Given the description of an element on the screen output the (x, y) to click on. 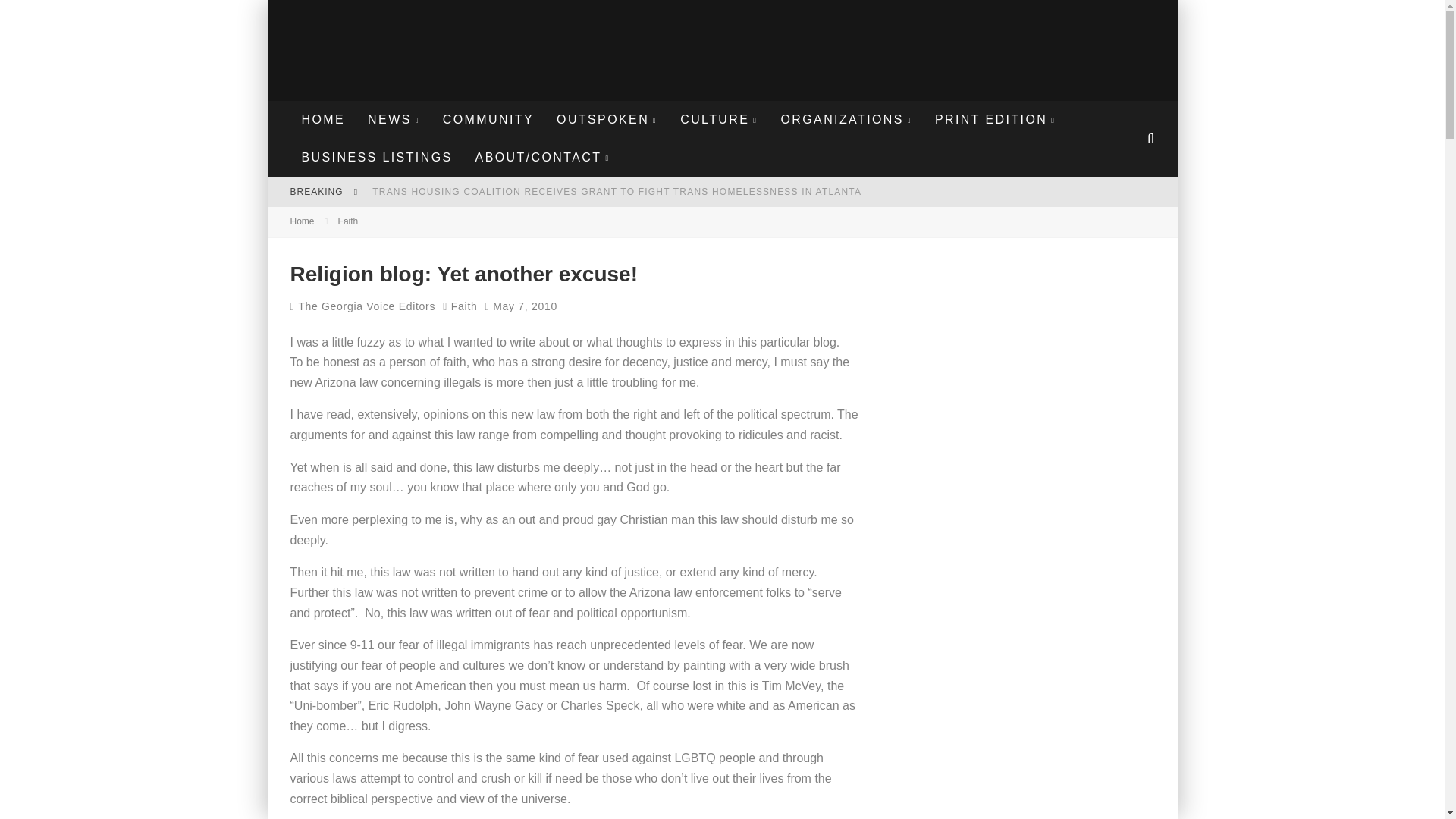
COMMUNITY (487, 119)
NEWS (393, 119)
CULTURE (718, 119)
HOME (322, 119)
OUTSPOKEN (606, 119)
